Given the description of an element on the screen output the (x, y) to click on. 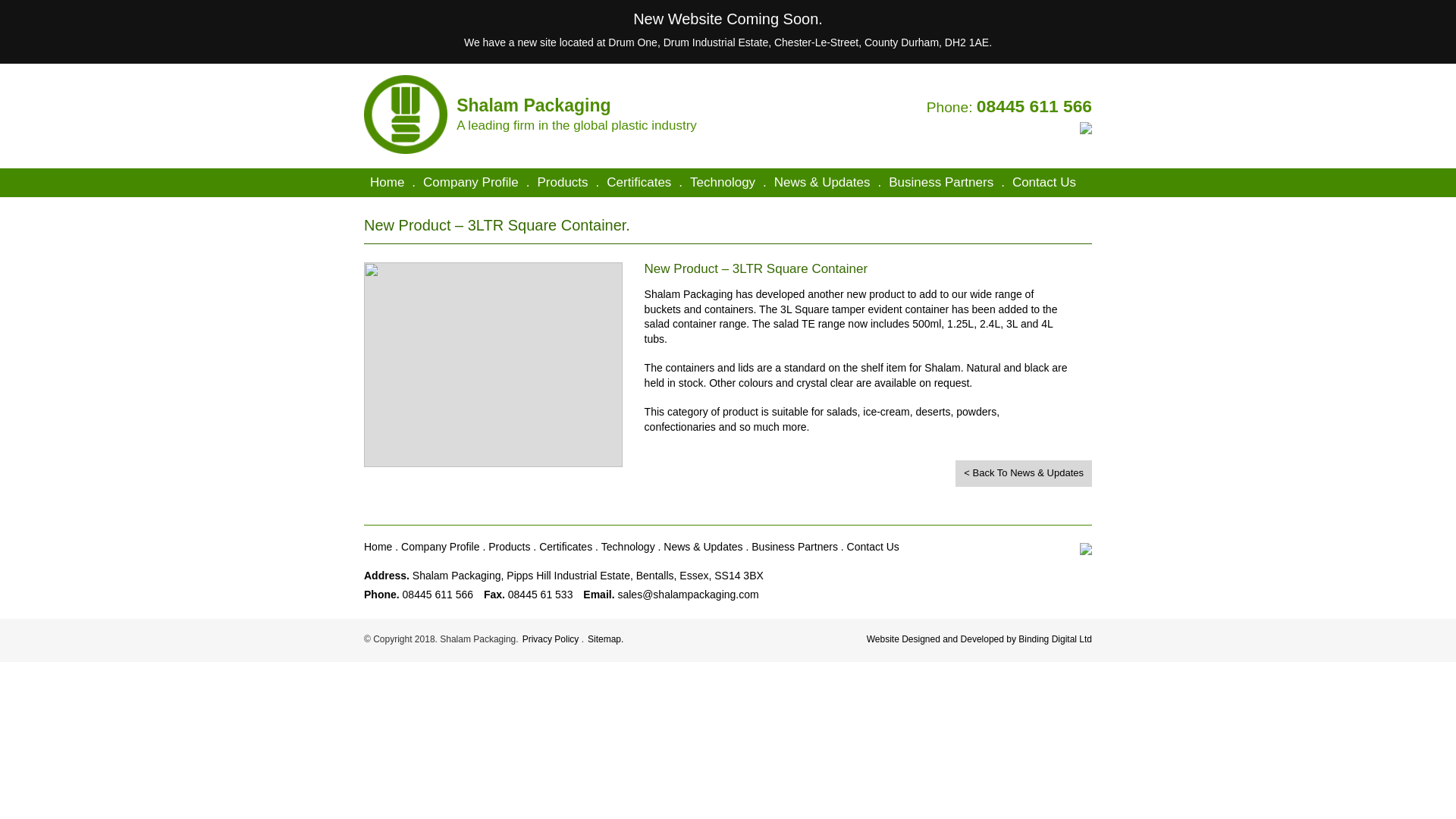
Company Profile (470, 182)
Products (562, 182)
Business Partners (940, 182)
Certificates (638, 182)
Technology (722, 182)
Home (387, 182)
Contact Us (1043, 182)
